Given the description of an element on the screen output the (x, y) to click on. 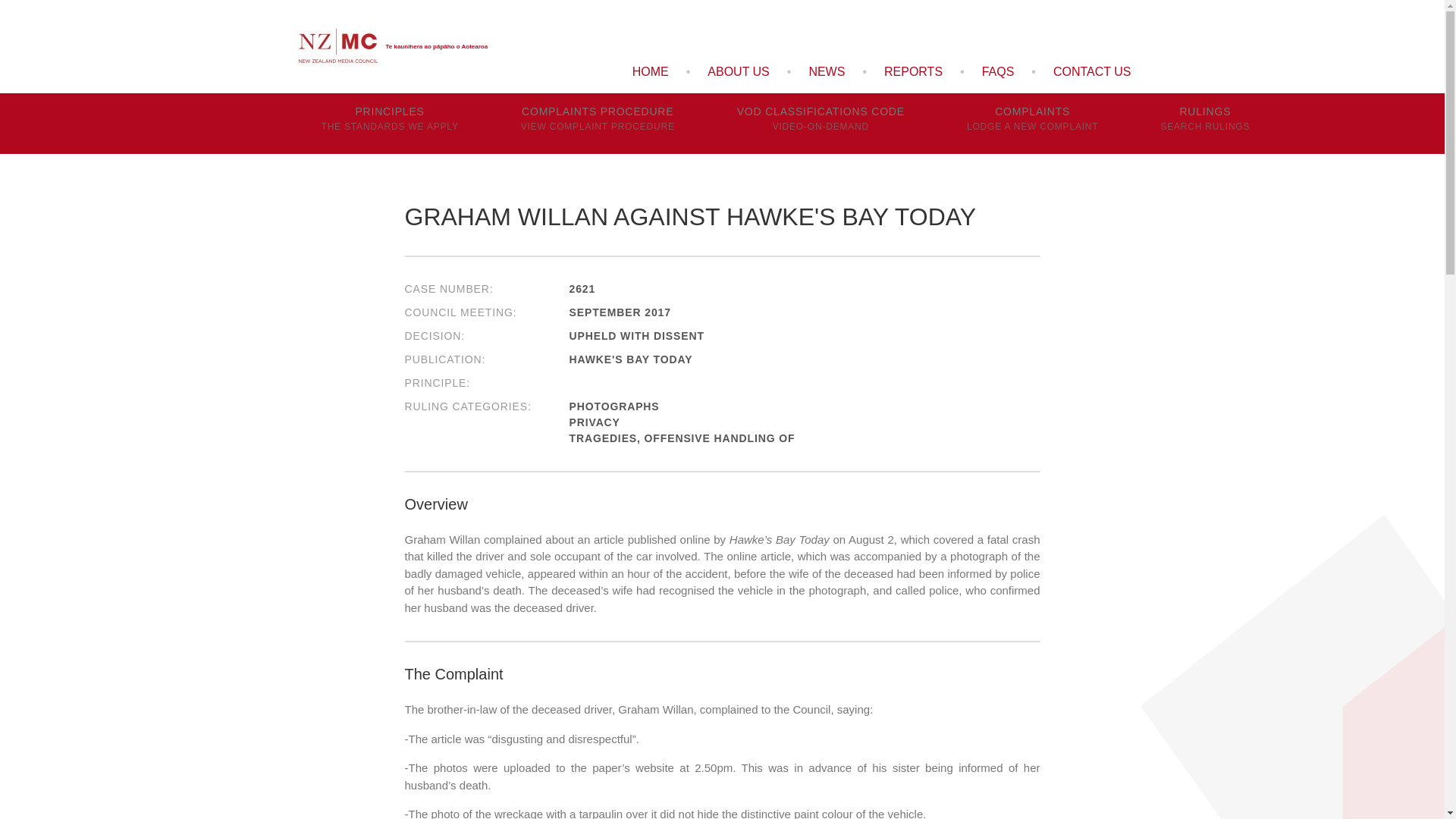
back to homepage (388, 46)
FAQS (998, 71)
About (737, 71)
Get in touch (1092, 71)
ABOUT US (389, 123)
CONTACT US (737, 71)
News (1204, 123)
Frequently Asked Questions (1092, 71)
